Given the description of an element on the screen output the (x, y) to click on. 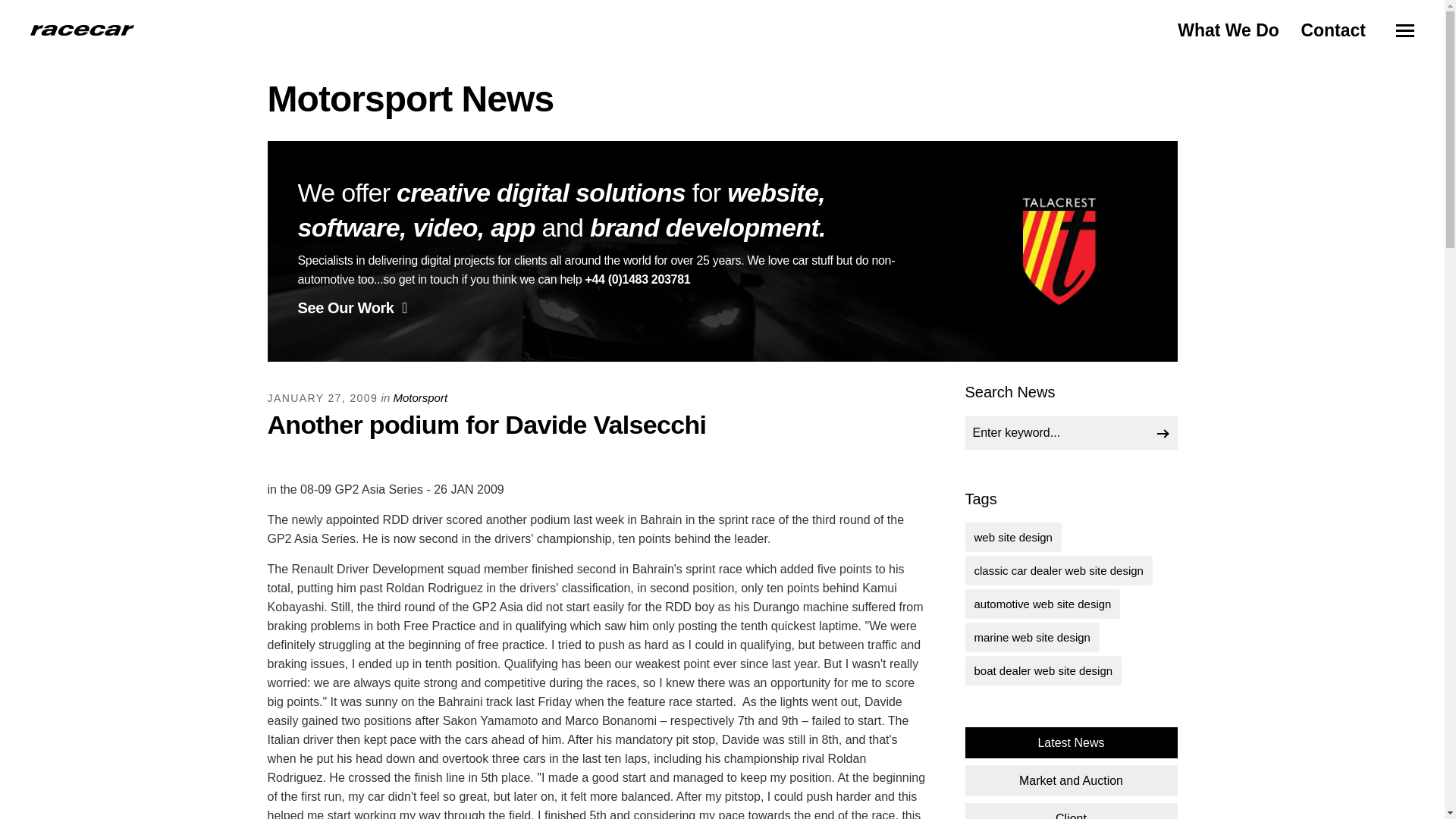
What We Do (1228, 30)
See Our Work   (351, 307)
Contact (1332, 30)
